Given the description of an element on the screen output the (x, y) to click on. 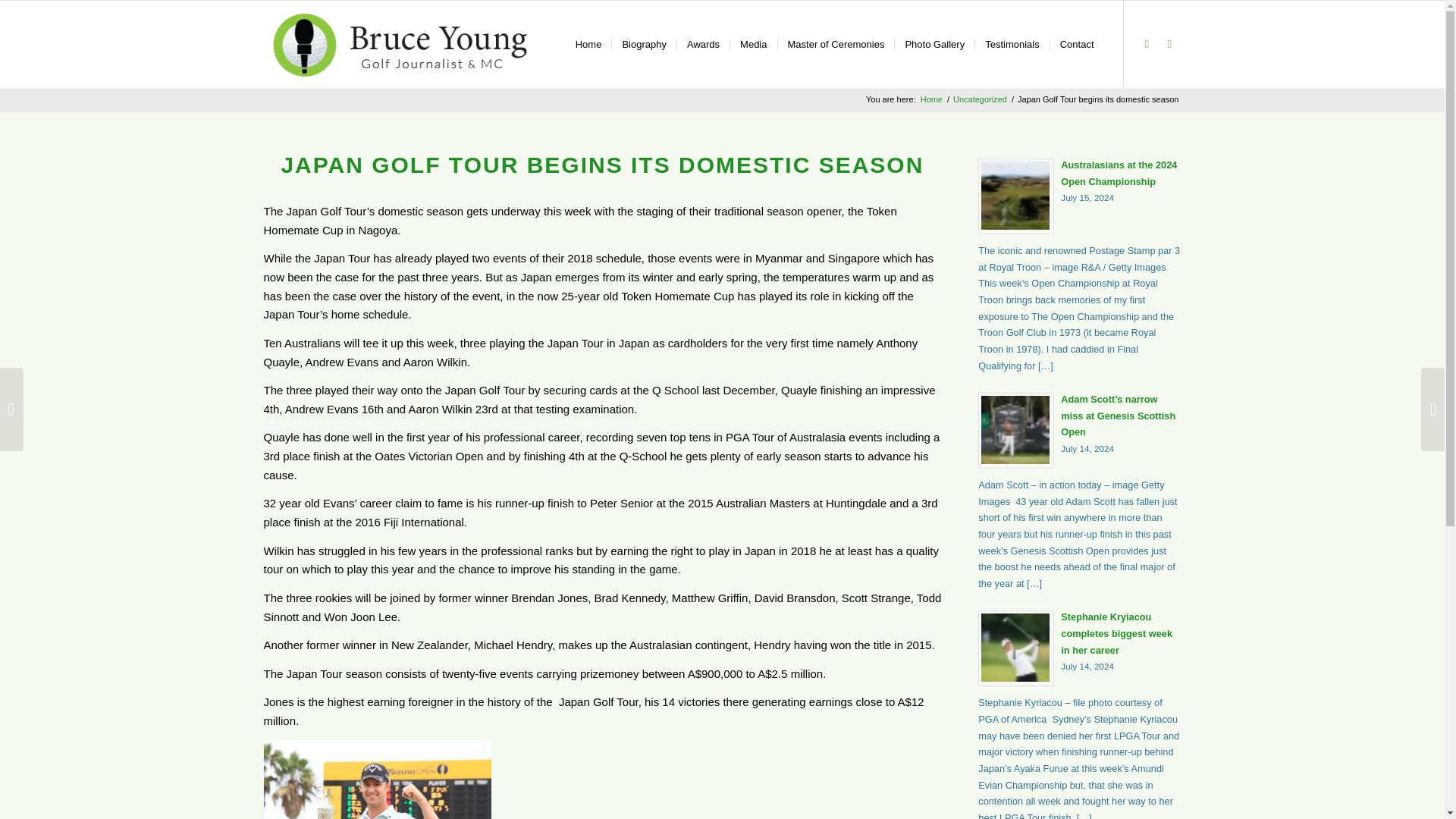
Master of Ceremonies (834, 44)
Home (588, 44)
Biography (644, 44)
Youtube (1146, 43)
Permanent Link: Japan Golf Tour begins its domestic season (1079, 194)
Awards (602, 164)
Testimonials (703, 44)
Photo Gallery (1011, 44)
Media (933, 44)
LinkedIn (752, 44)
Uncategorized (1169, 43)
Bruce Young Media (979, 99)
JAPAN GOLF TOUR BEGINS ITS DOMESTIC SEASON (931, 99)
